Given the description of an element on the screen output the (x, y) to click on. 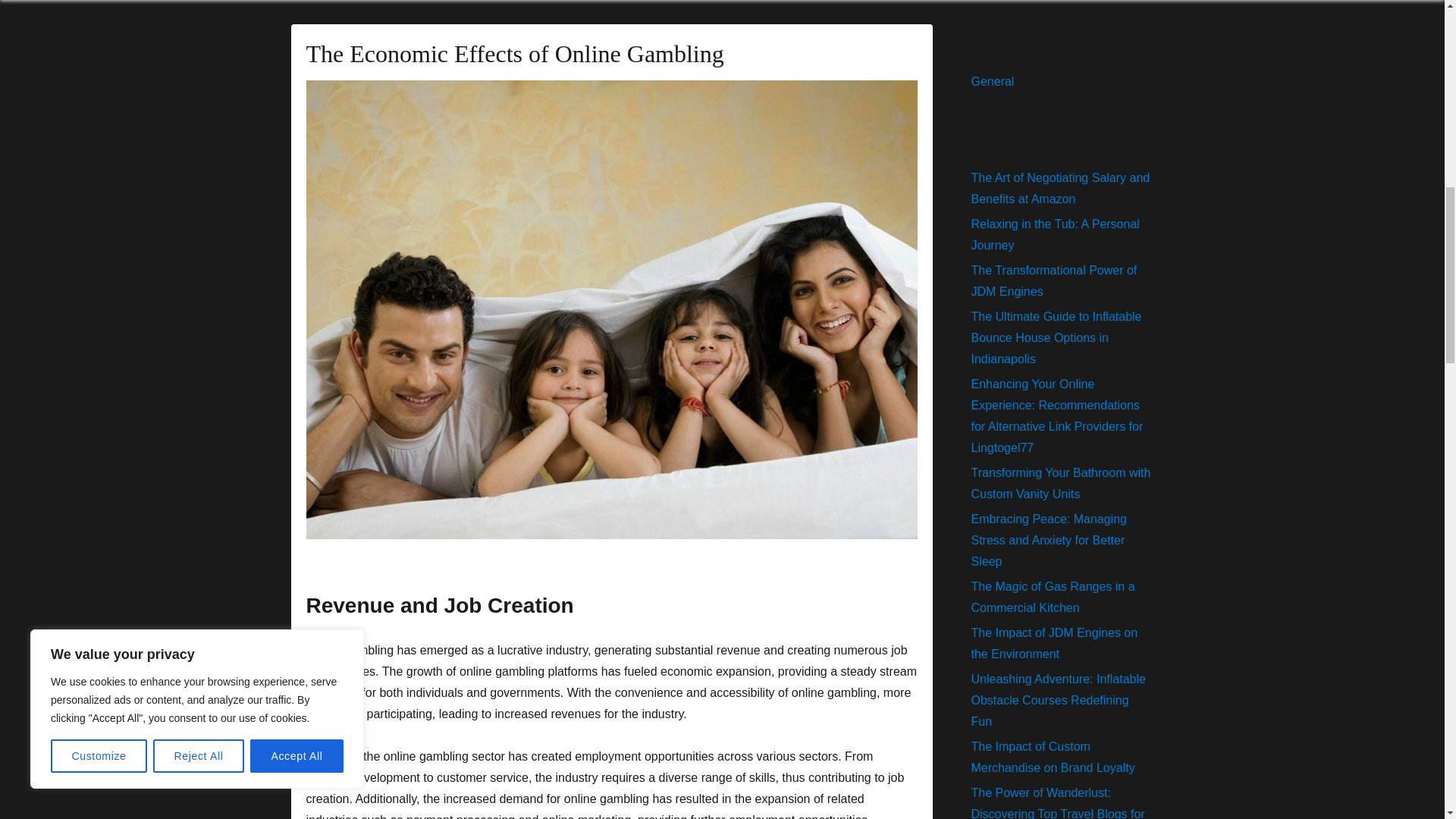
The Art of Negotiating Salary and Benefits at Amazon (1060, 188)
Relaxing in the Tub: A Personal Journey (1054, 234)
General (992, 81)
The Transformational Power of JDM Engines (1054, 280)
